Given the description of an element on the screen output the (x, y) to click on. 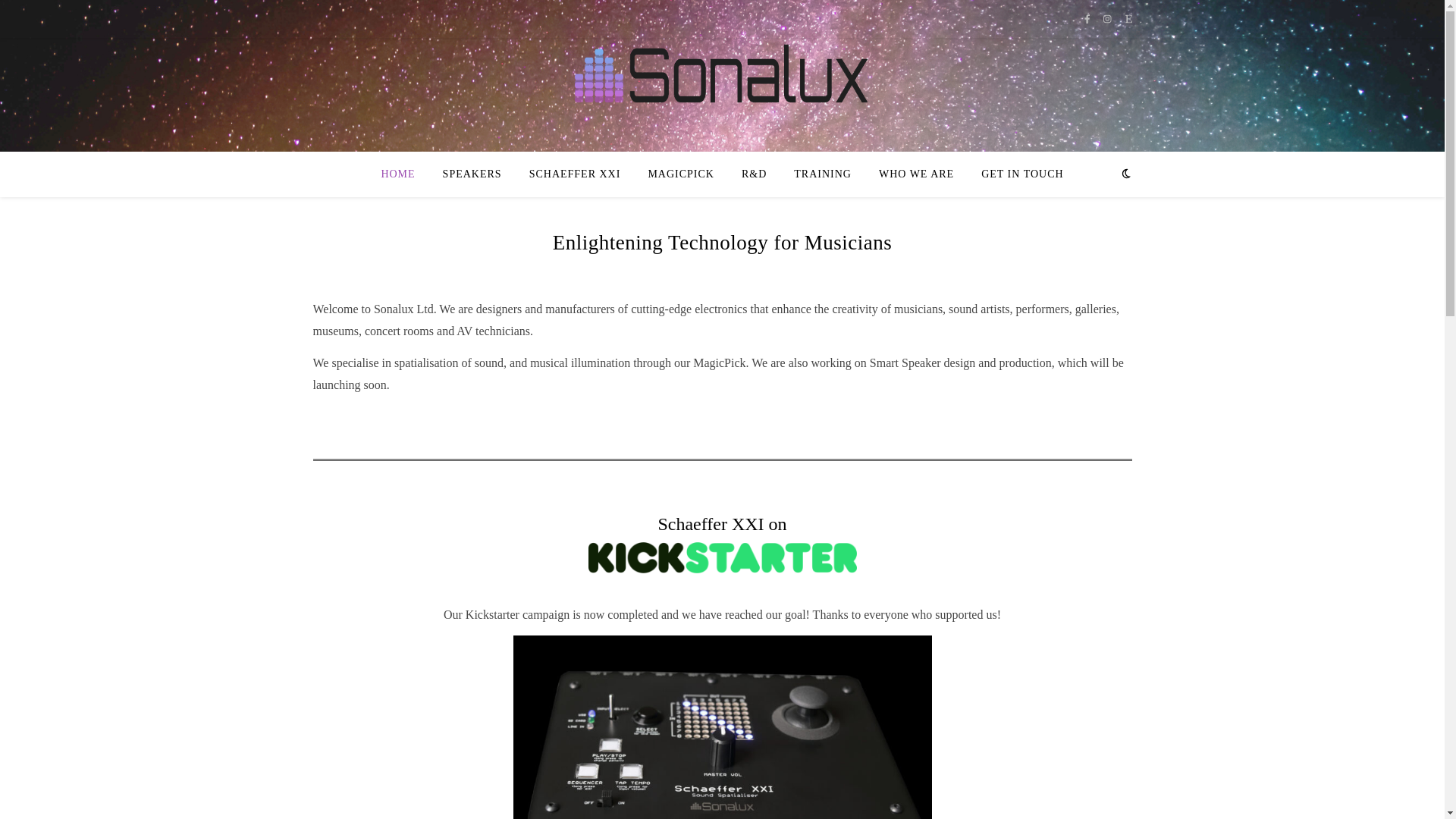
SPEAKERS (471, 174)
TRAINING (822, 174)
MAGICPICK (680, 174)
GET IN TOUCH (1015, 174)
Sonalux (722, 78)
HOME (403, 174)
WHO WE ARE (916, 174)
SCHAEFFER XXI (574, 174)
